Given the description of an element on the screen output the (x, y) to click on. 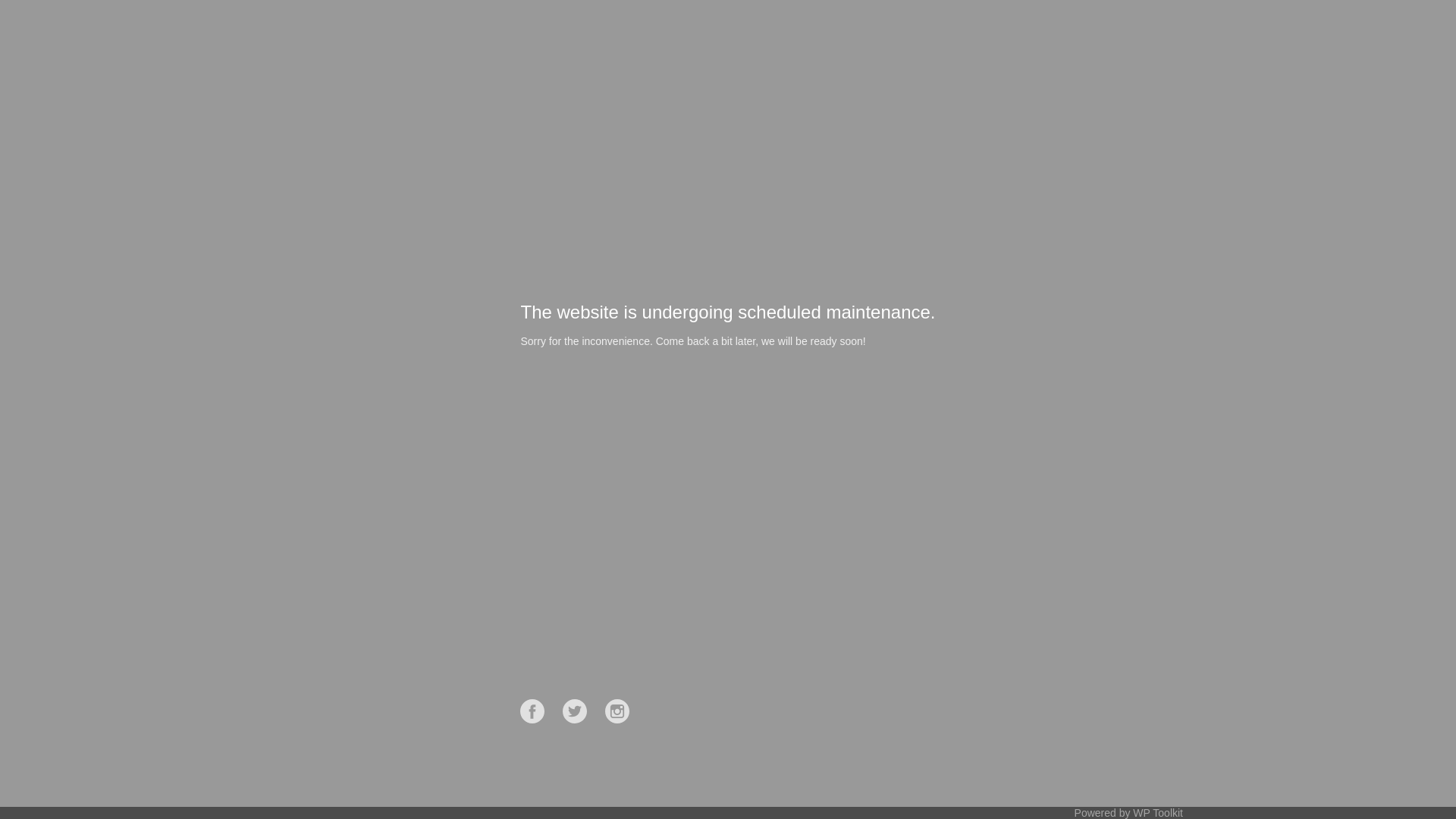
Twitter Element type: hover (574, 711)
Instagram Element type: hover (617, 711)
Facebook Element type: hover (532, 711)
